Given the description of an element on the screen output the (x, y) to click on. 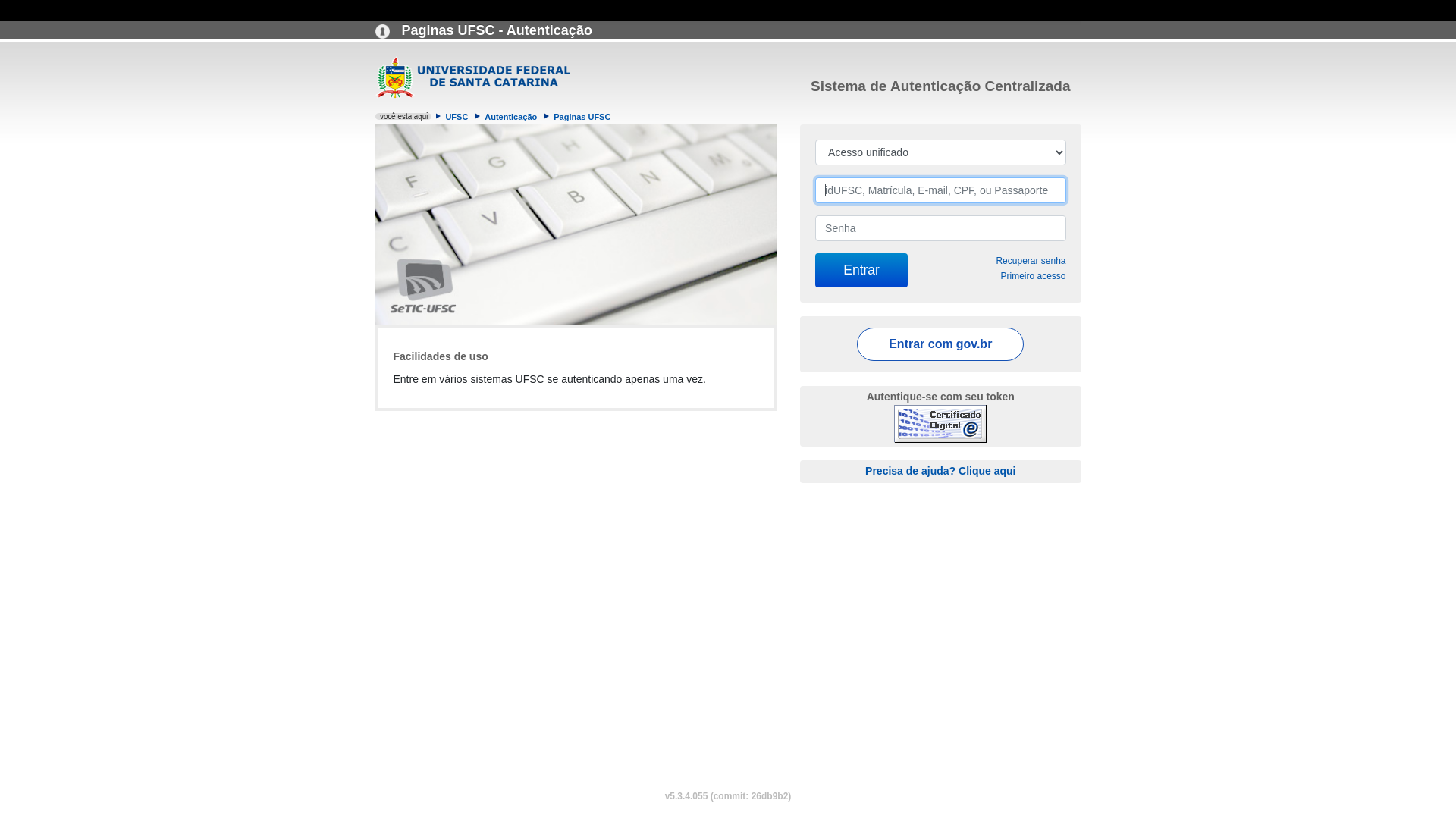
Precisa de ajuda? Clique aqui Element type: text (940, 470)
Paginas UFSC Element type: text (581, 116)
Recuperar senha Element type: text (1030, 260)
Entrar Element type: text (861, 270)
Entrar com
gov.br Element type: text (939, 343)
UFSC Element type: text (456, 116)
Primeiro acesso Element type: text (1032, 275)
